Given the description of an element on the screen output the (x, y) to click on. 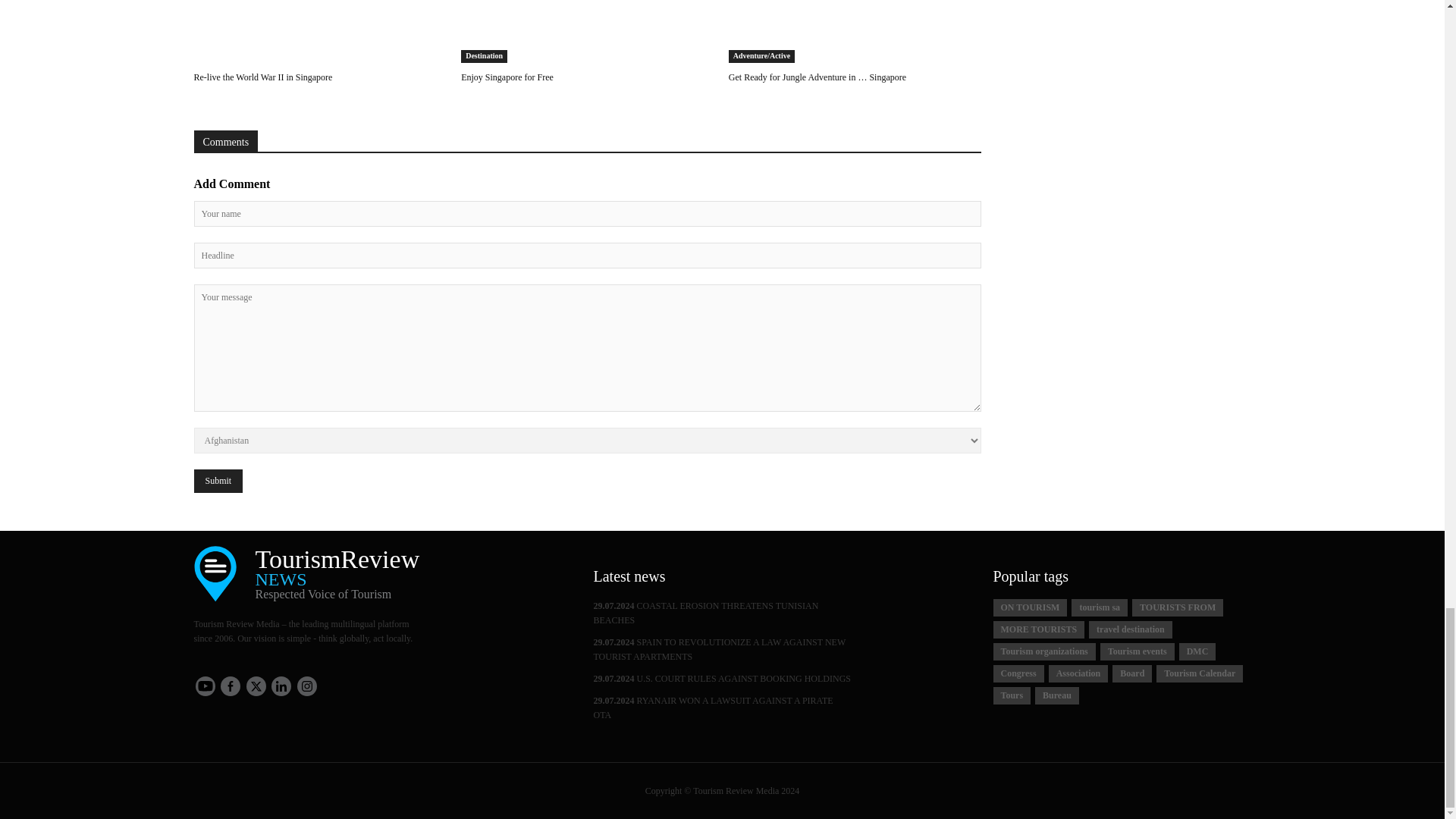
Submit (218, 481)
